Given the description of an element on the screen output the (x, y) to click on. 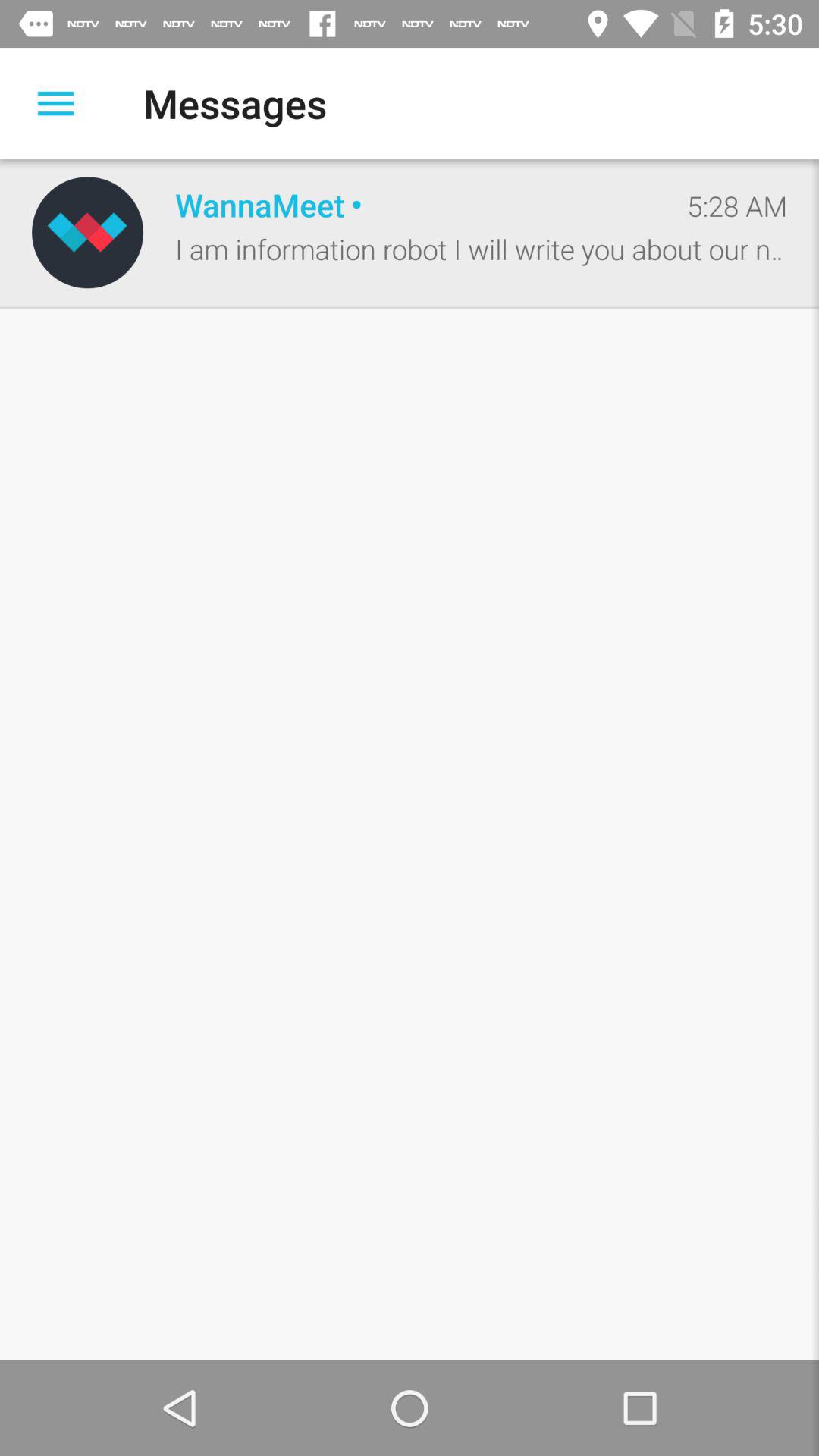
select icon to the right of the wannameet (737, 205)
